Given the description of an element on the screen output the (x, y) to click on. 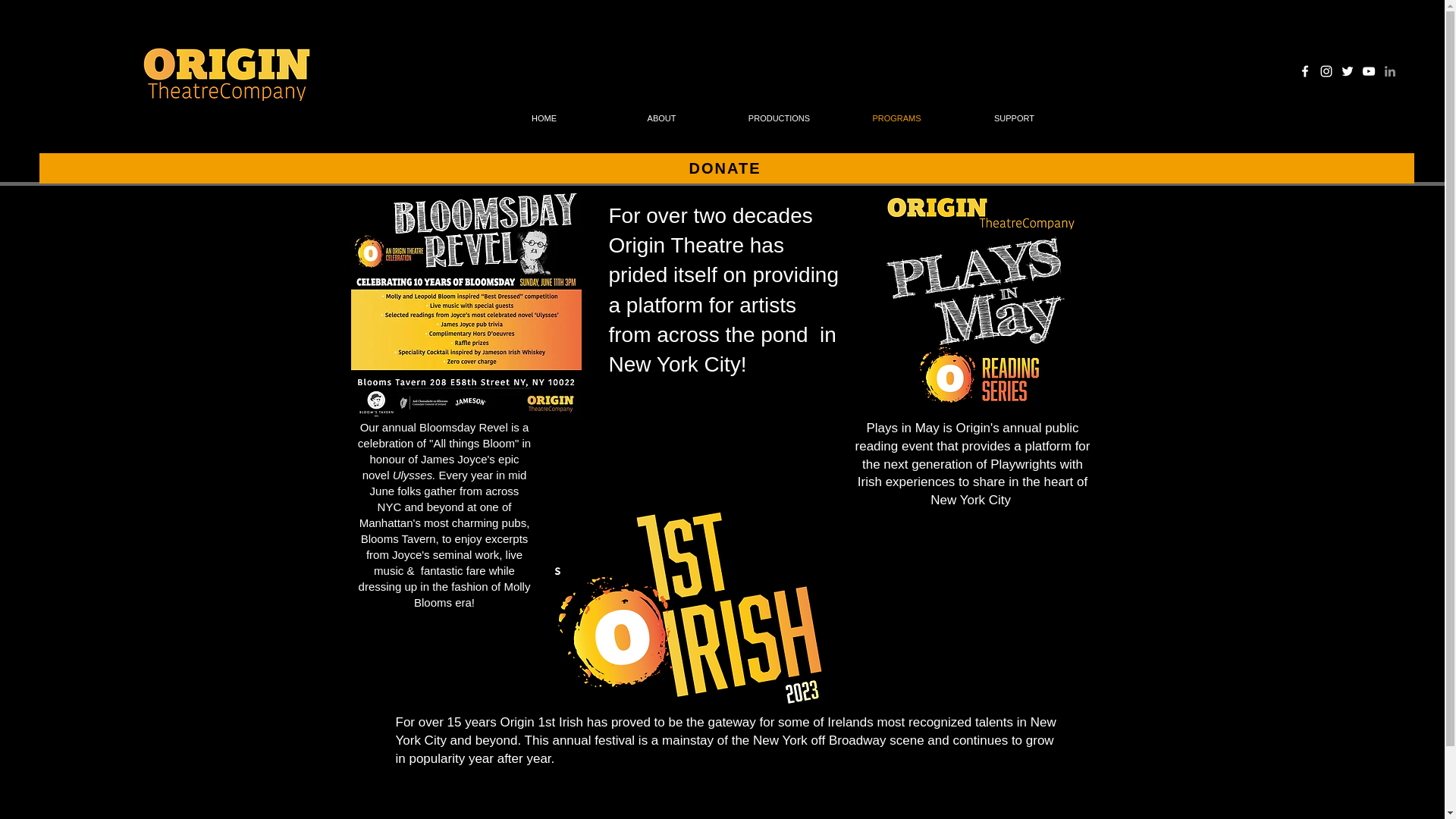
ABOUT (661, 118)
SUPPORT (1014, 118)
PRODUCTIONS (779, 118)
PROGRAMS (896, 118)
DONATE (726, 168)
HOME (543, 118)
